Given the description of an element on the screen output the (x, y) to click on. 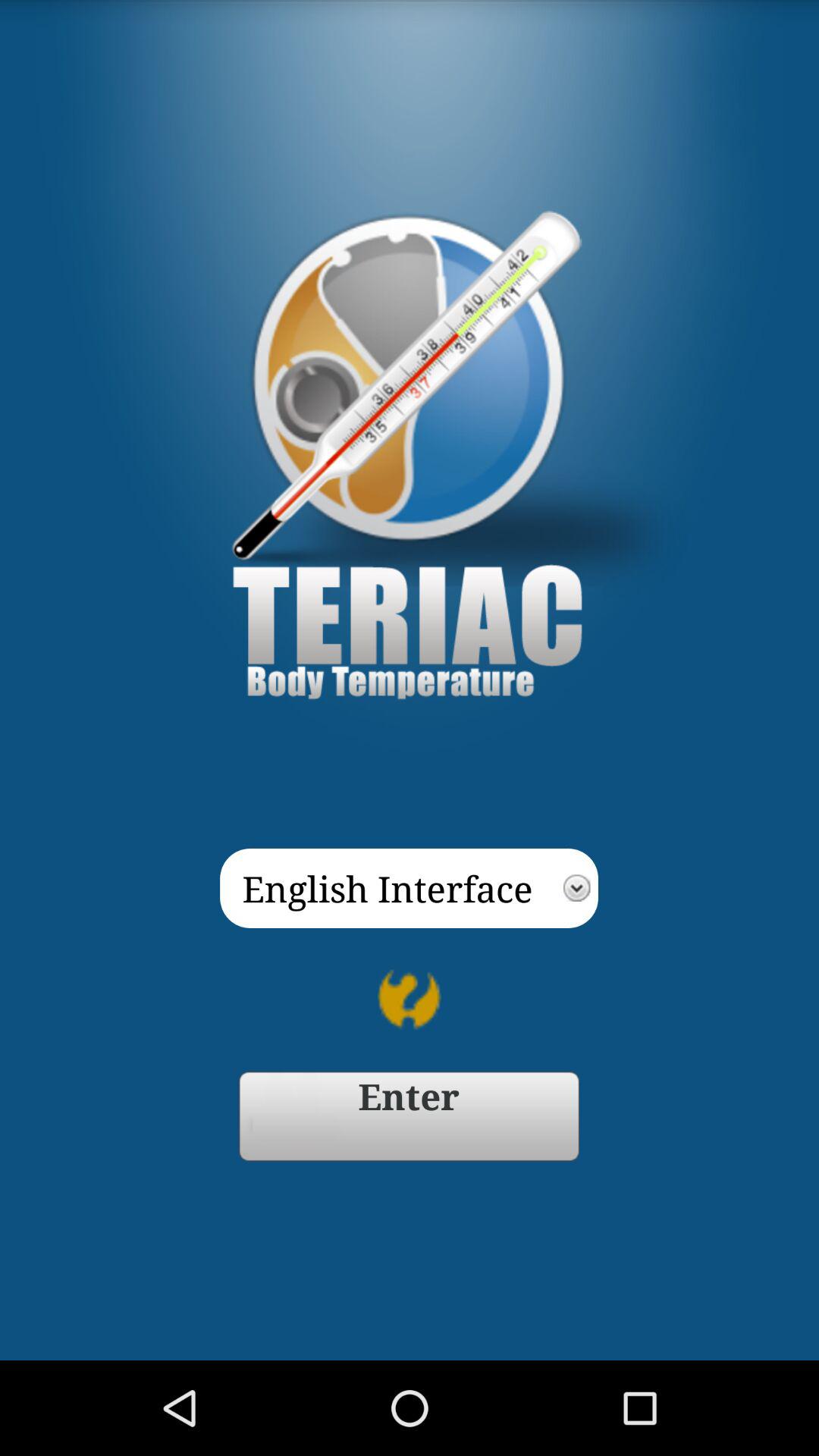
open question (409, 999)
